Given the description of an element on the screen output the (x, y) to click on. 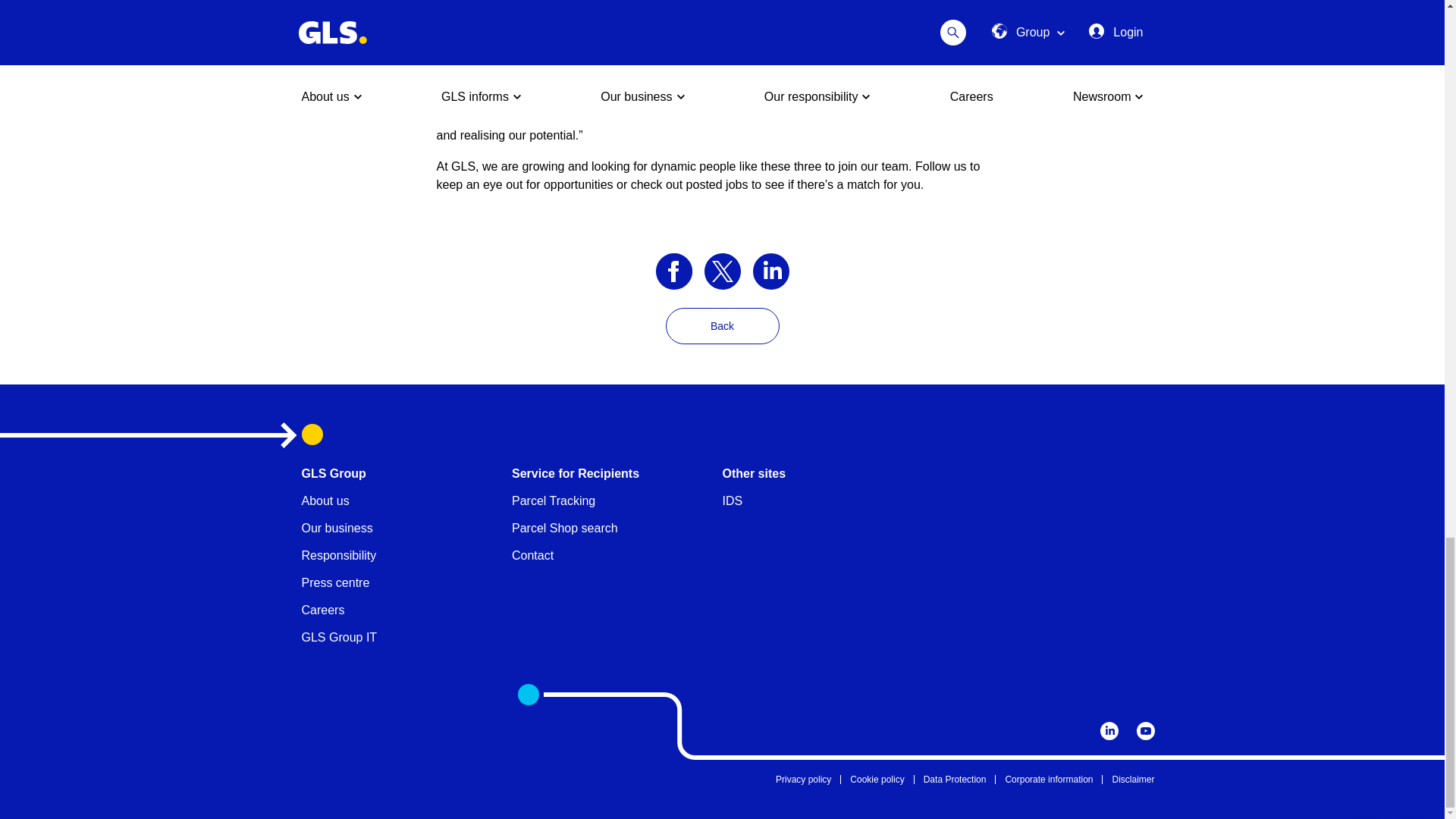
Linkedin (770, 269)
Linkedin (1108, 730)
facebook (673, 269)
youtube (1144, 730)
Twitter (721, 269)
